Given the description of an element on the screen output the (x, y) to click on. 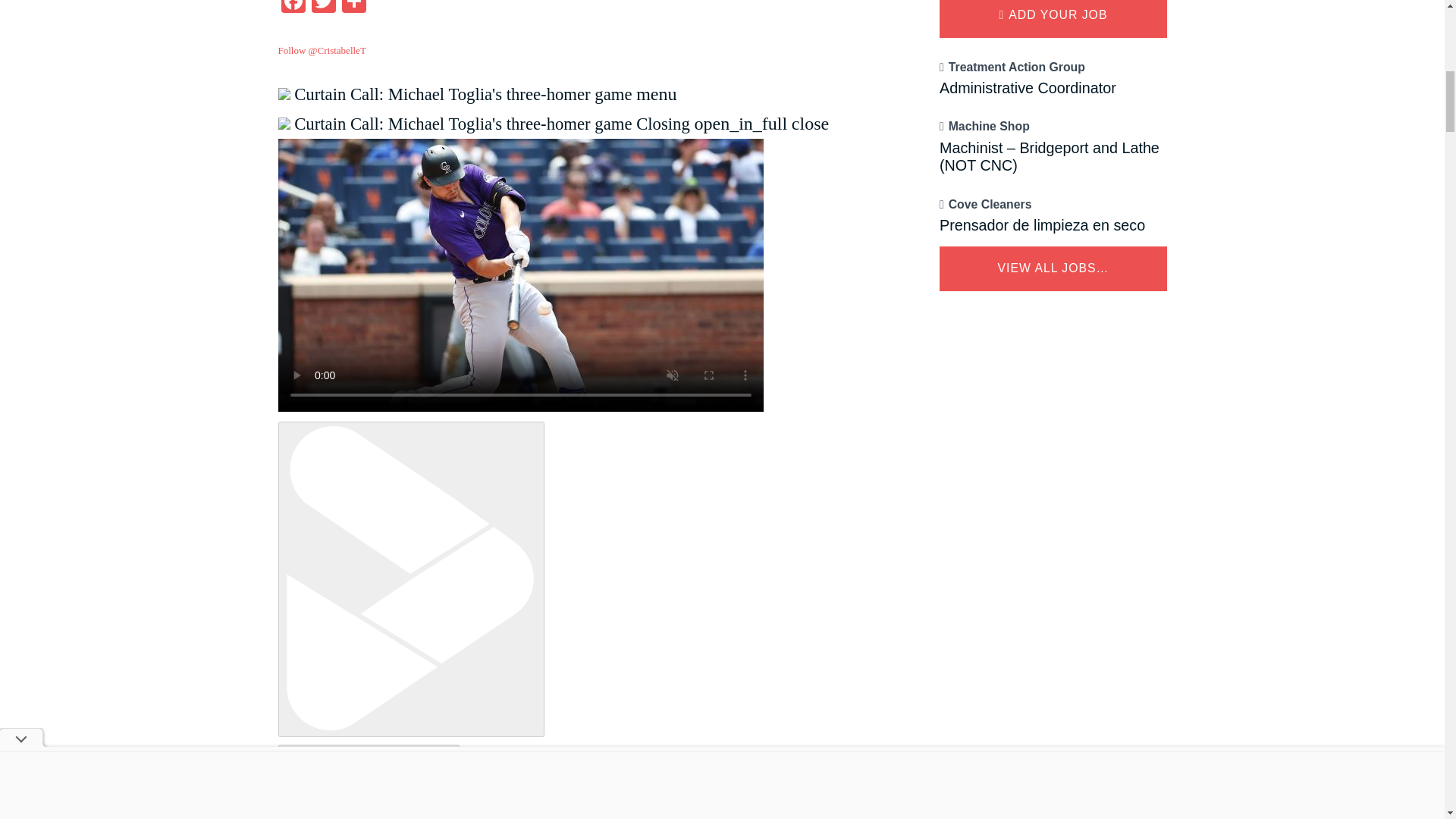
Facebook (292, 8)
Twitter (322, 8)
